Given the description of an element on the screen output the (x, y) to click on. 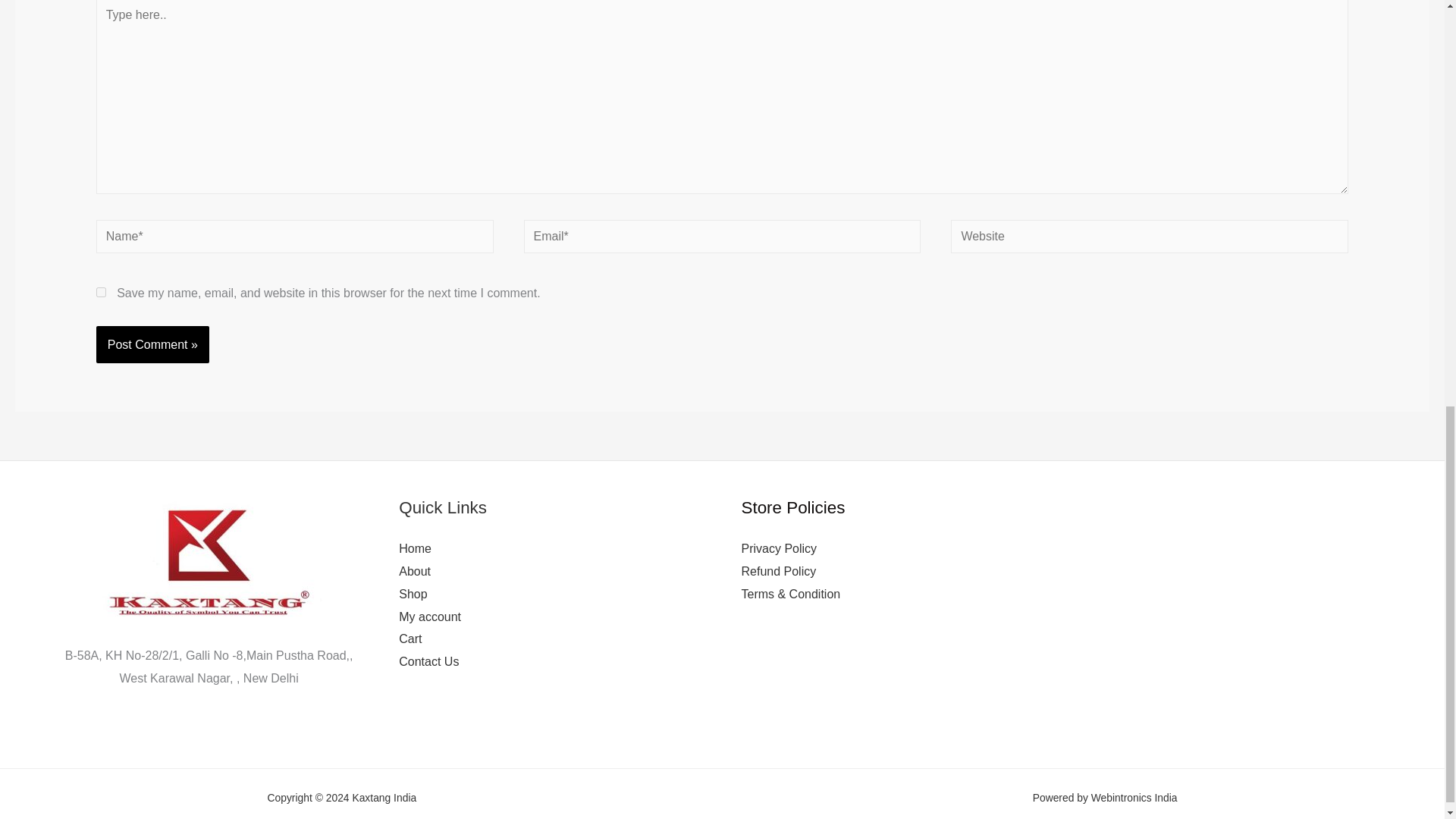
Cart (410, 638)
About (414, 571)
yes (101, 292)
Refund Policy (778, 571)
Privacy Policy (778, 548)
Contact Us (428, 661)
My account (429, 616)
Home (414, 548)
Shop (412, 594)
